Given the description of an element on the screen output the (x, y) to click on. 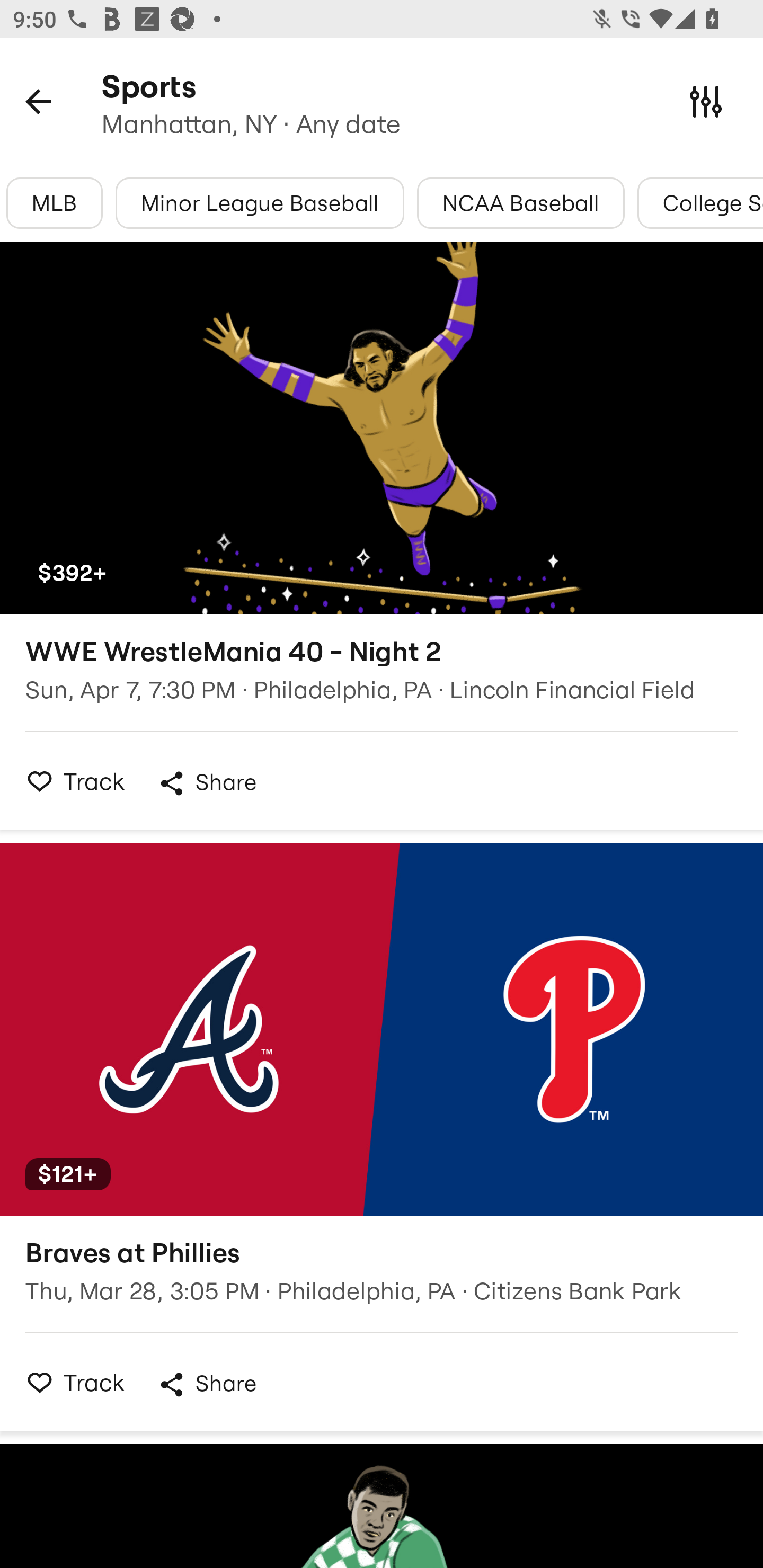
Back (38, 100)
Filters (705, 100)
MLB (54, 202)
Minor League Baseball (259, 202)
NCAA Baseball (520, 202)
College Softball (700, 202)
Track (70, 780)
Share (207, 783)
Track (70, 1381)
Share (207, 1384)
